Given the description of an element on the screen output the (x, y) to click on. 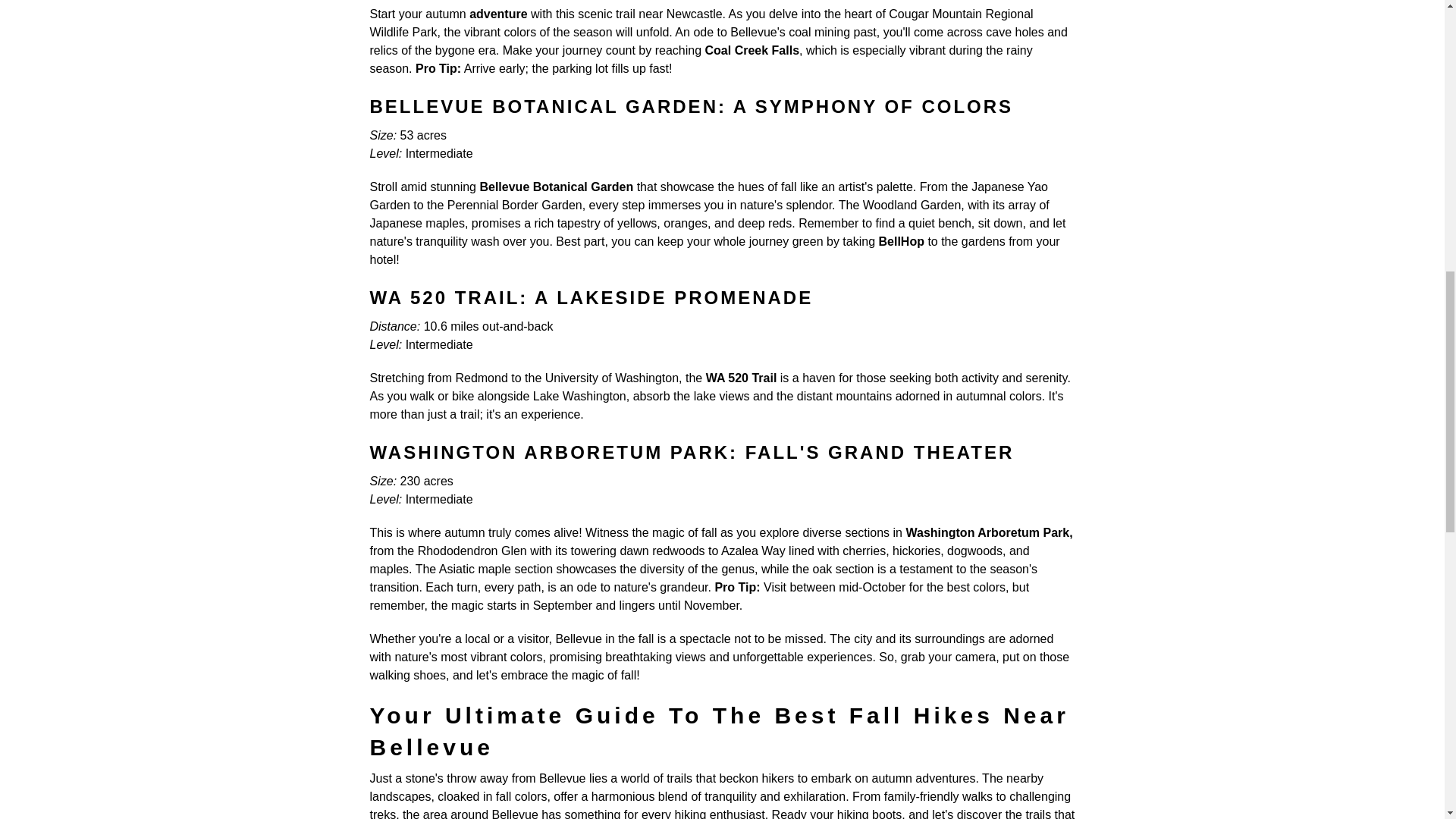
SHOPPING (167, 295)
Restaurants (212, 352)
HOTELS (139, 409)
Event Calendar (250, 181)
RESTAURANTS (212, 352)
PLAN (108, 466)
Shopping (167, 295)
Plan (108, 466)
CRUISE TRAVEL (225, 522)
Things To Do (210, 238)
